Given the description of an element on the screen output the (x, y) to click on. 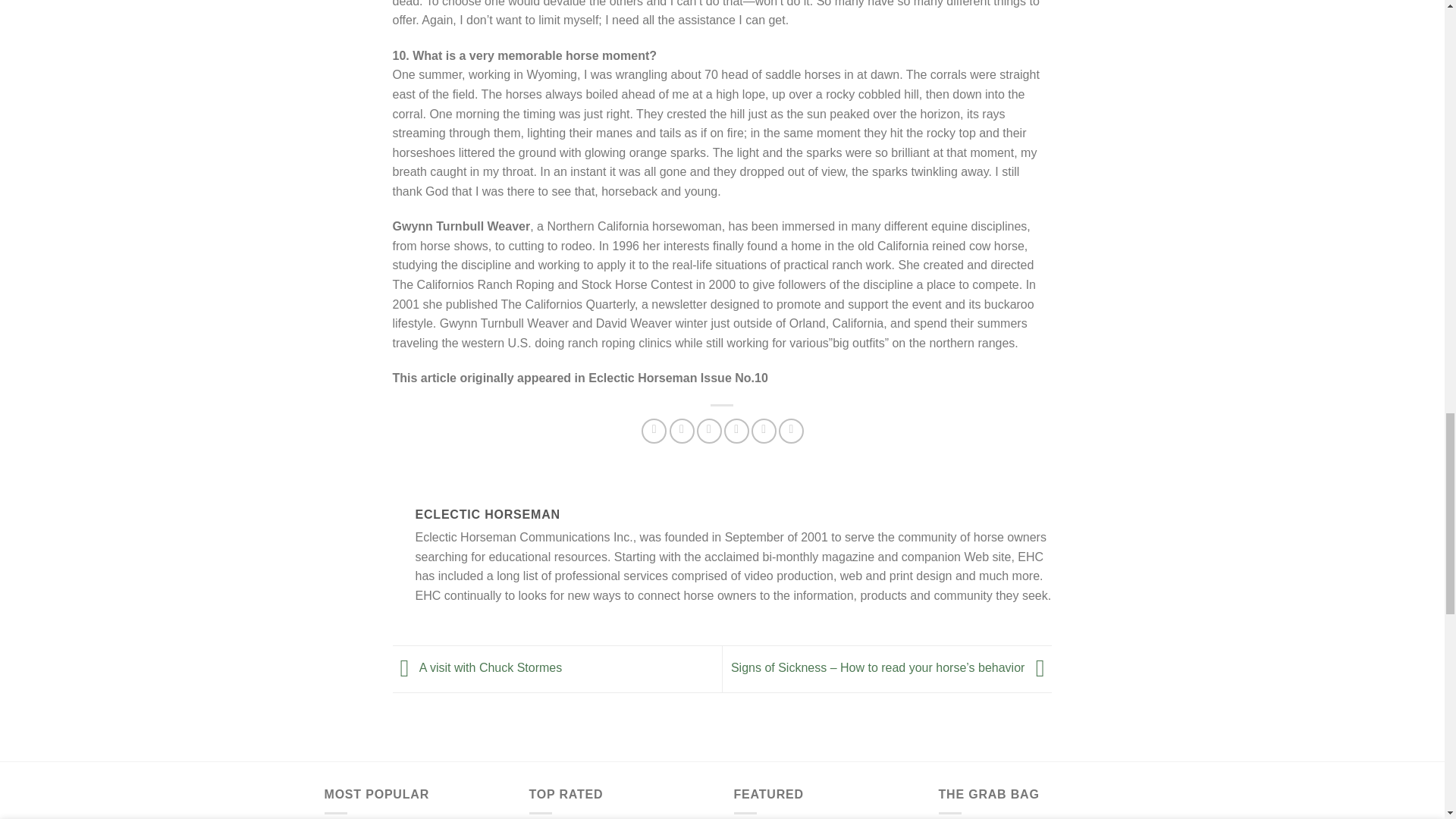
Pin on Pinterest (709, 430)
Share on Tumblr (763, 430)
Share on Facebook (654, 430)
Email to a Friend (681, 430)
Share on LinkedIn (736, 430)
